Given the description of an element on the screen output the (x, y) to click on. 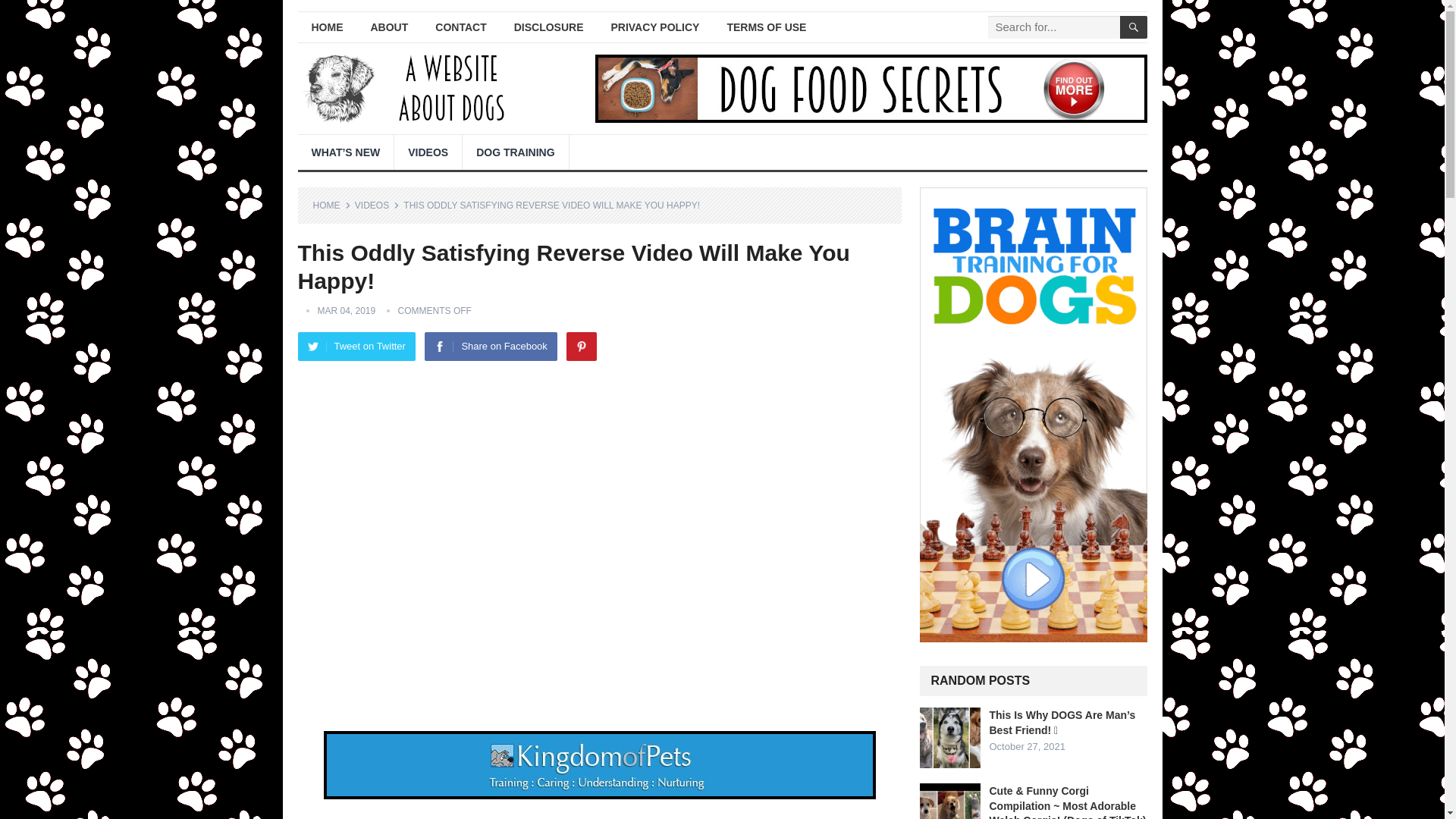
Share on Facebook (490, 346)
TERMS OF USE (766, 27)
CONTACT (460, 27)
View all posts in Videos (376, 204)
DISCLOSURE (548, 27)
ABOUT (389, 27)
VIDEOS (376, 204)
DOG TRAINING (515, 152)
Tweet on Twitter (355, 346)
HOME (326, 27)
VIDEOS (427, 152)
Pinterest (581, 346)
HOME (331, 204)
PRIVACY POLICY (654, 27)
